Given the description of an element on the screen output the (x, y) to click on. 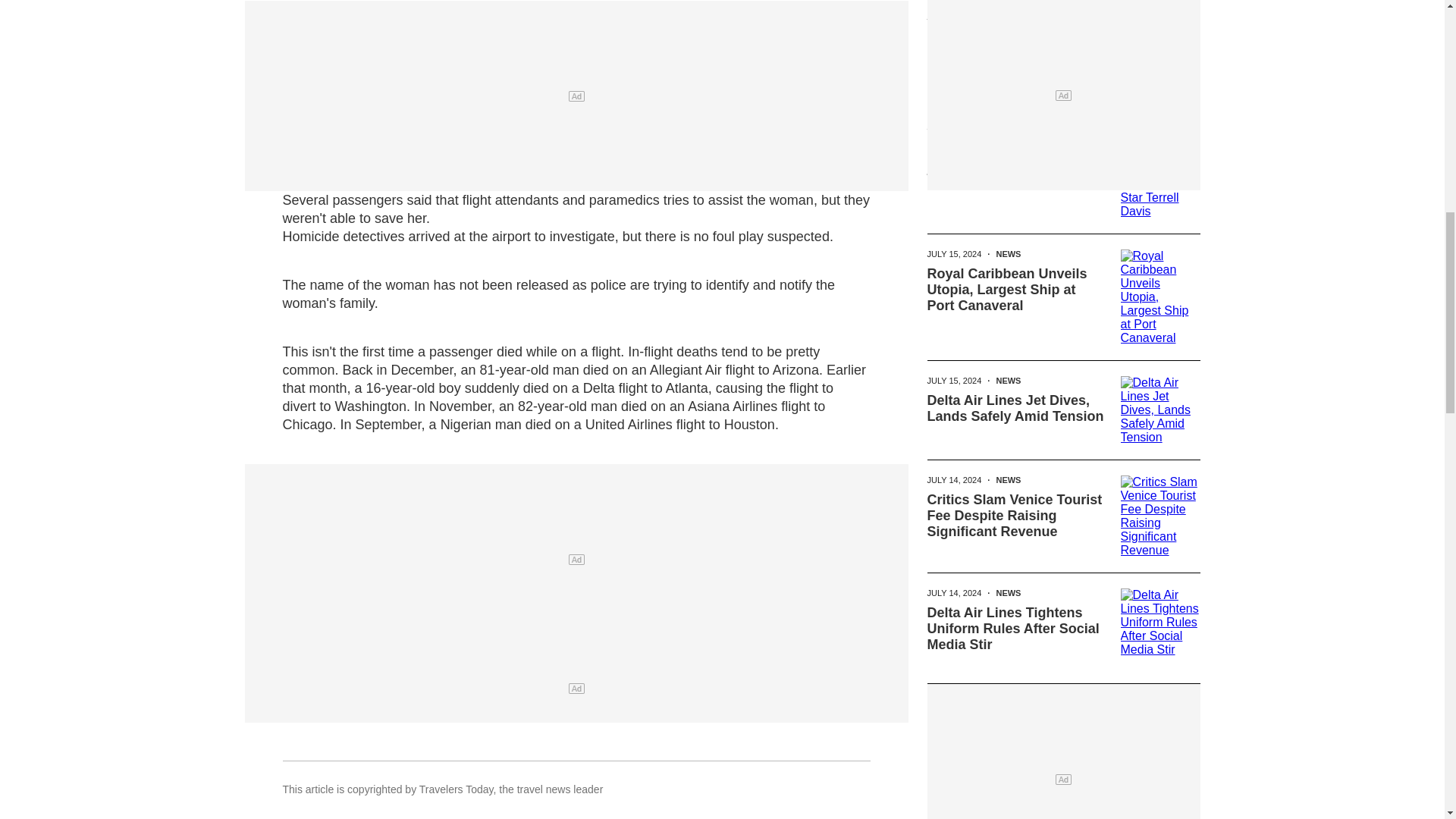
Delta Air Lines Jet Dives, Lands Safely Amid Tension (1014, 408)
NEWS (1007, 379)
NEWS (1007, 253)
NEWS (1007, 479)
NEWS (1022, 16)
NEWS (1007, 126)
